Given the description of an element on the screen output the (x, y) to click on. 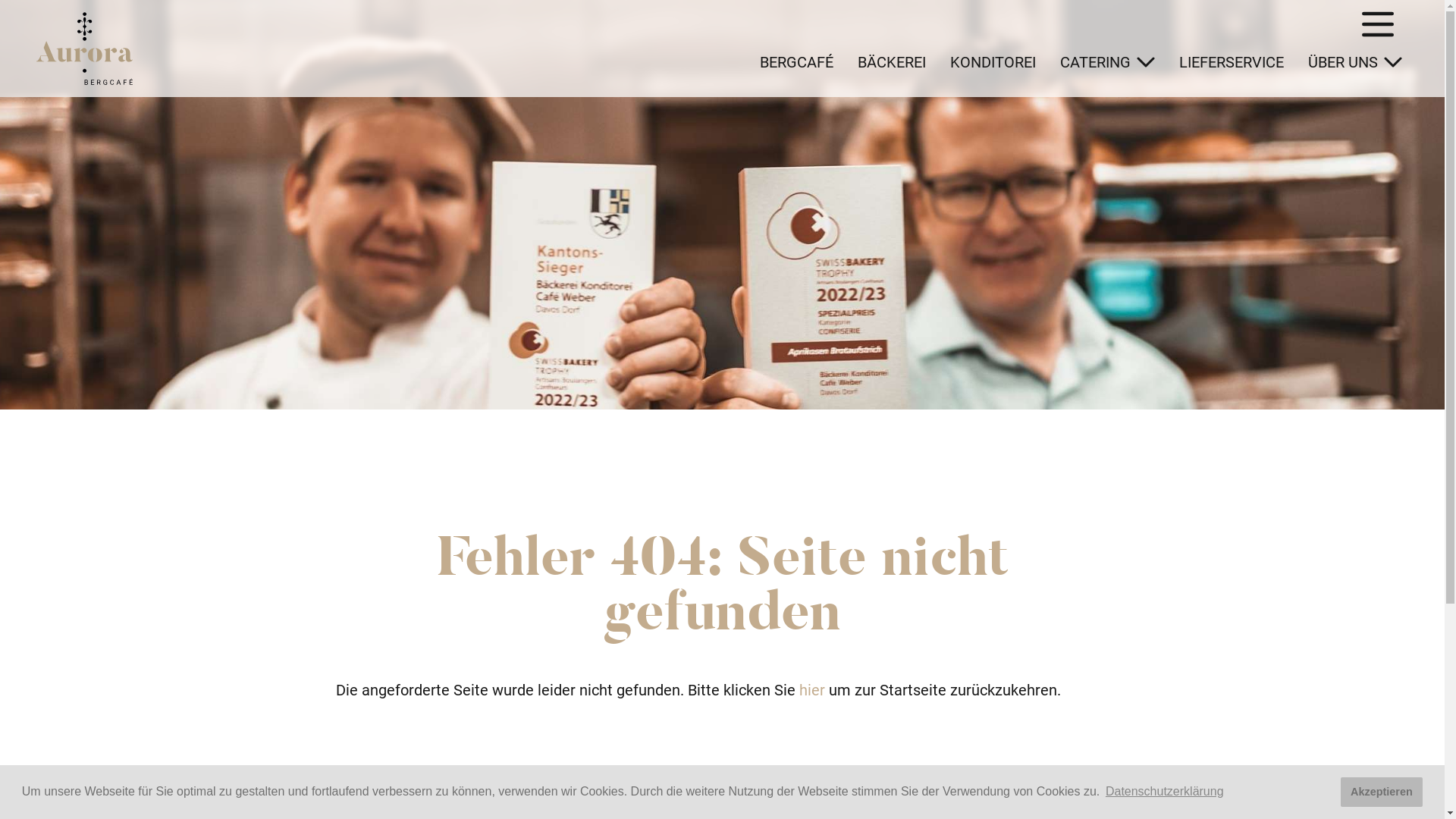
hier Element type: text (812, 689)
LIEFERSERVICE Element type: text (1231, 61)
KONDITOREI Element type: text (992, 61)
CATERING Element type: text (1107, 61)
menu Element type: text (1377, 24)
focuspoint testpicture Element type: hover (722, 204)
Akzeptieren Element type: text (1381, 791)
Back to home Element type: hover (84, 48)
